Given the description of an element on the screen output the (x, y) to click on. 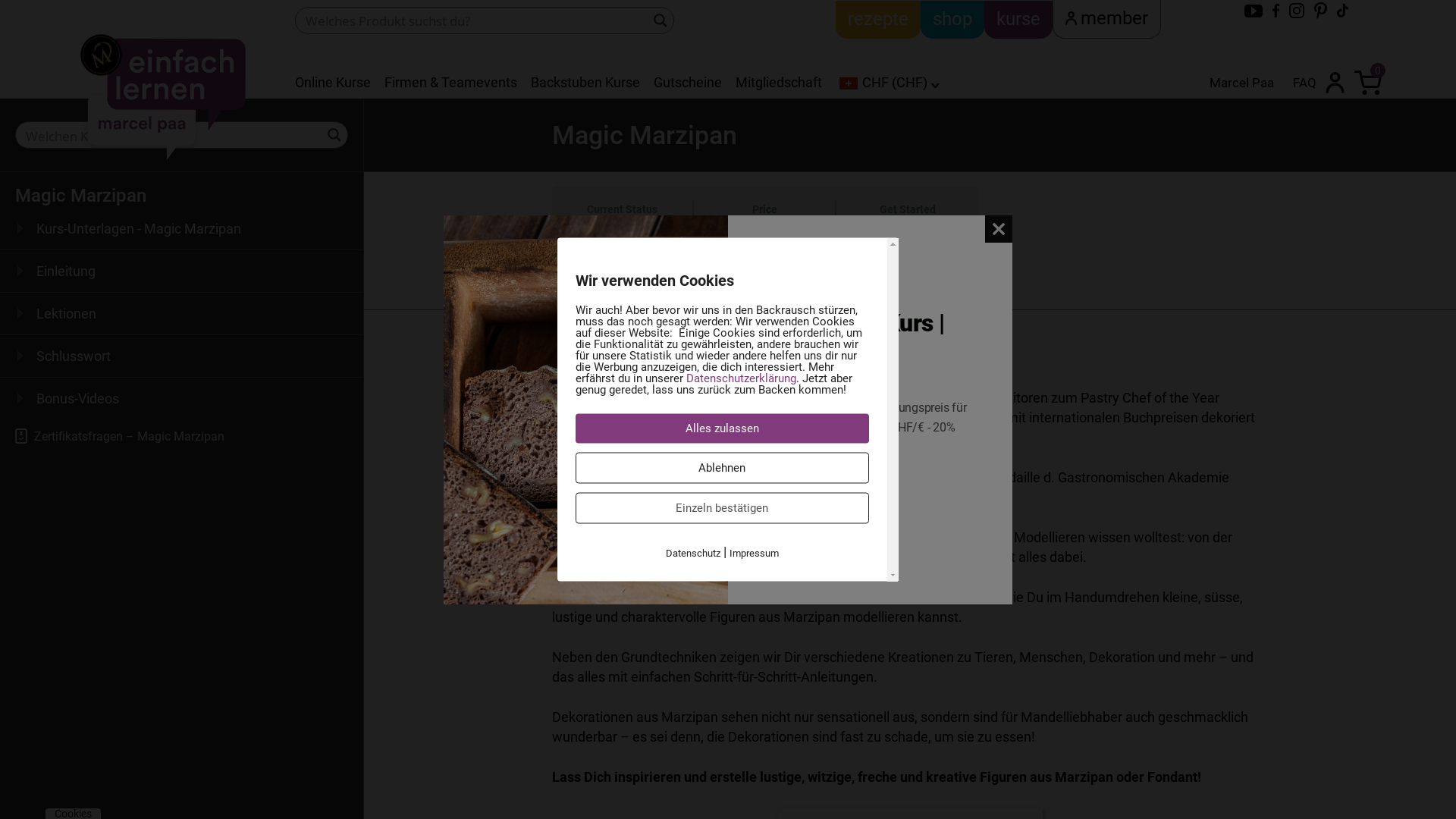
kurse Element type: text (1018, 19)
Magic Marzipan Element type: text (80, 195)
Datenschutz Element type: text (692, 552)
Ablehnen Element type: text (722, 467)
Online Kurse Element type: text (332, 82)
rezepte Element type: text (877, 19)
FAQ Element type: text (1304, 82)
Impressum Element type: text (753, 552)
member Element type: text (1106, 18)
Alles zulassen Element type: text (722, 428)
Gutscheine Element type: text (687, 82)
Diesen Kurs belegen Element type: text (907, 252)
Zum Kurs Element type: text (786, 495)
shop Element type: text (952, 19)
Backstuben Kurse Element type: text (585, 82)
Firmen & Teamevents Element type: text (450, 82)
Close this module Element type: text (998, 228)
0 Element type: text (1367, 80)
Mitgliedschaft Element type: text (778, 82)
Marcel Paa Element type: text (1241, 82)
